Given the description of an element on the screen output the (x, y) to click on. 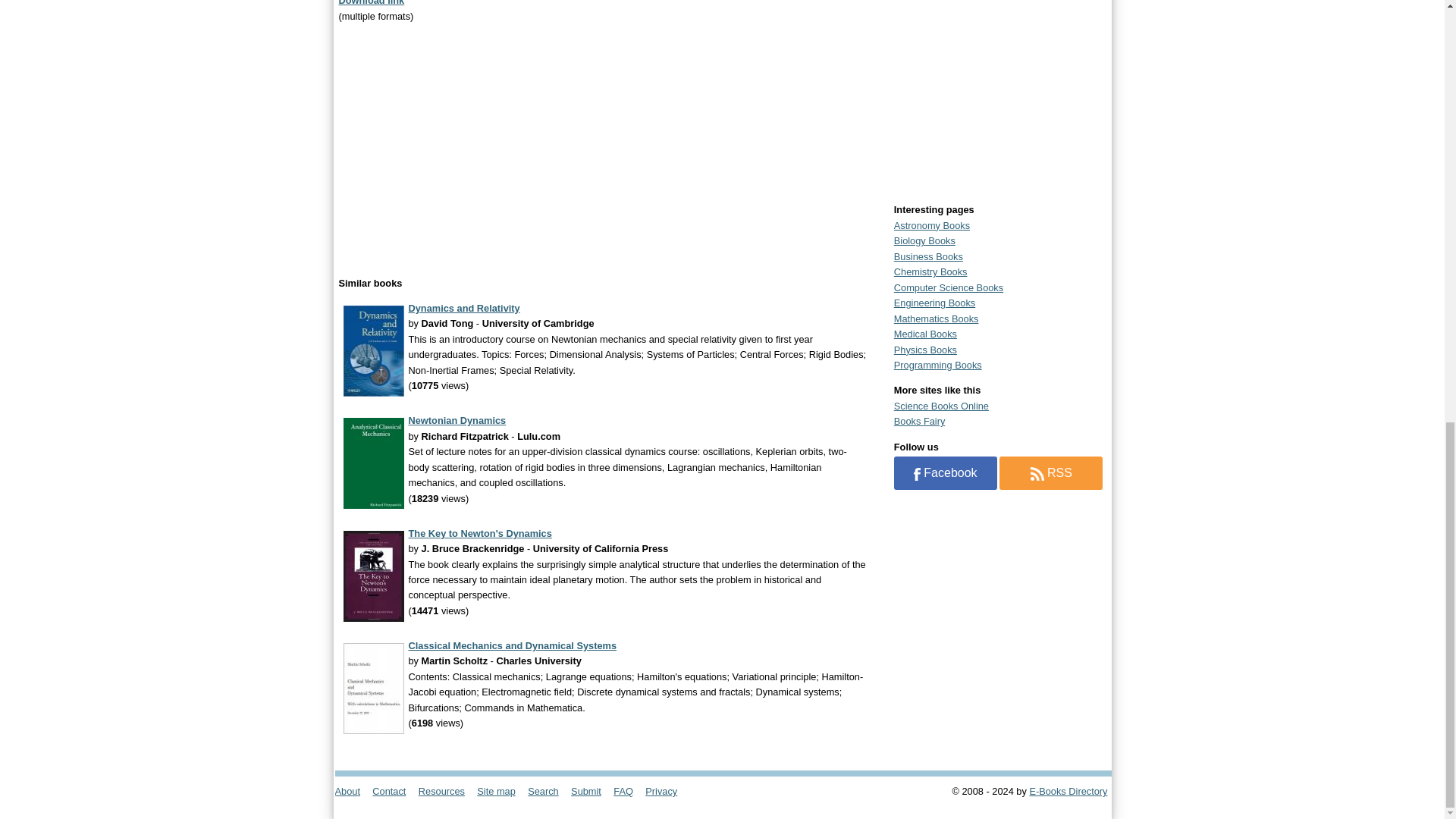
Resources (446, 790)
The Key to Newton's Dynamics (479, 532)
Contact (393, 790)
Submit (590, 790)
Newtonian Dynamics (456, 419)
Site map (500, 790)
Dynamics and Relativity (463, 307)
Download link (370, 2)
Search (547, 790)
Classical Mechanics and Dynamical Systems (511, 645)
About (351, 790)
